Given the description of an element on the screen output the (x, y) to click on. 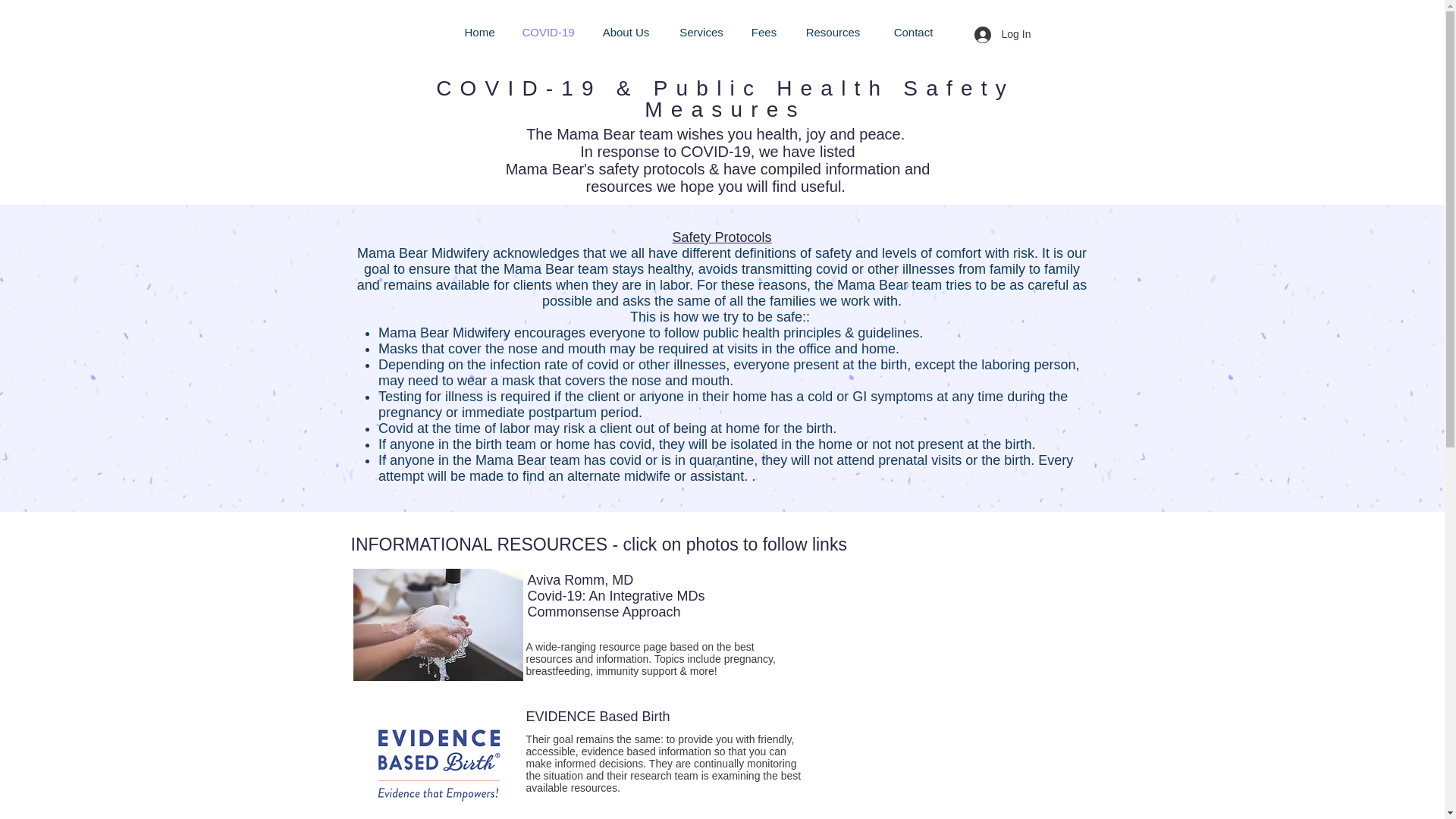
Log In (1001, 34)
Fees (763, 32)
Resources (832, 32)
Home (478, 32)
COVID-19 (548, 32)
Contact (913, 32)
About Us (625, 32)
Services (700, 32)
